Given the description of an element on the screen output the (x, y) to click on. 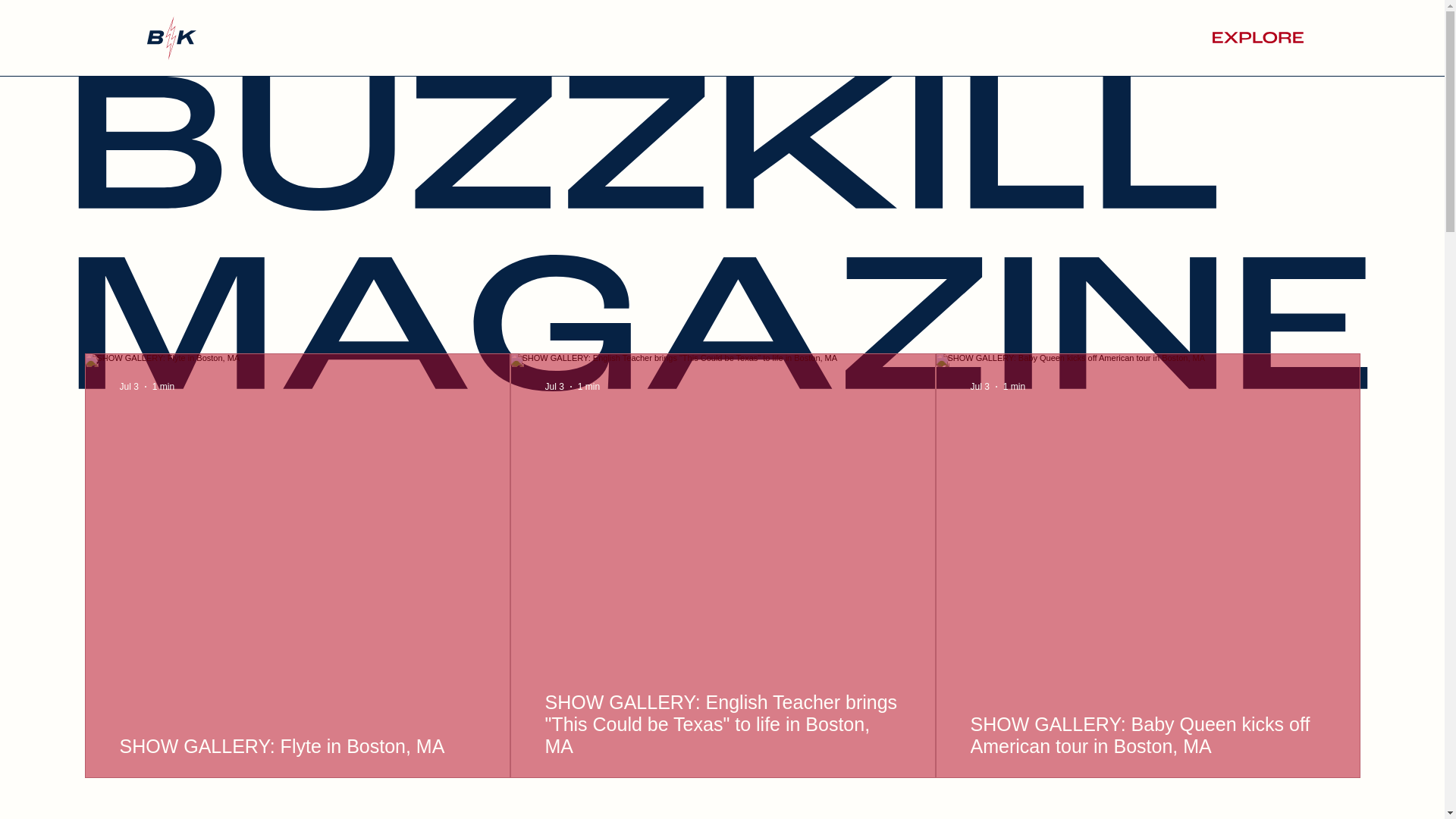
SHOW GALLERY: Flyte in Boston, MA (297, 745)
1 min (588, 386)
1 min (1014, 386)
Jul 3 (128, 386)
1 min (163, 386)
Jul 3 (553, 386)
Jul 3 (980, 386)
